Given the description of an element on the screen output the (x, y) to click on. 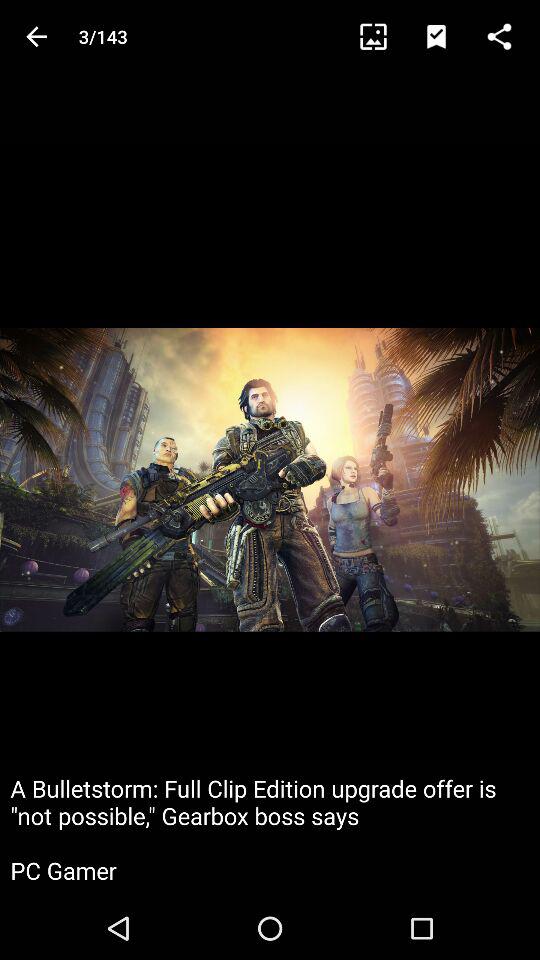
launch the icon above the a bulletstorm full item (508, 36)
